Given the description of an element on the screen output the (x, y) to click on. 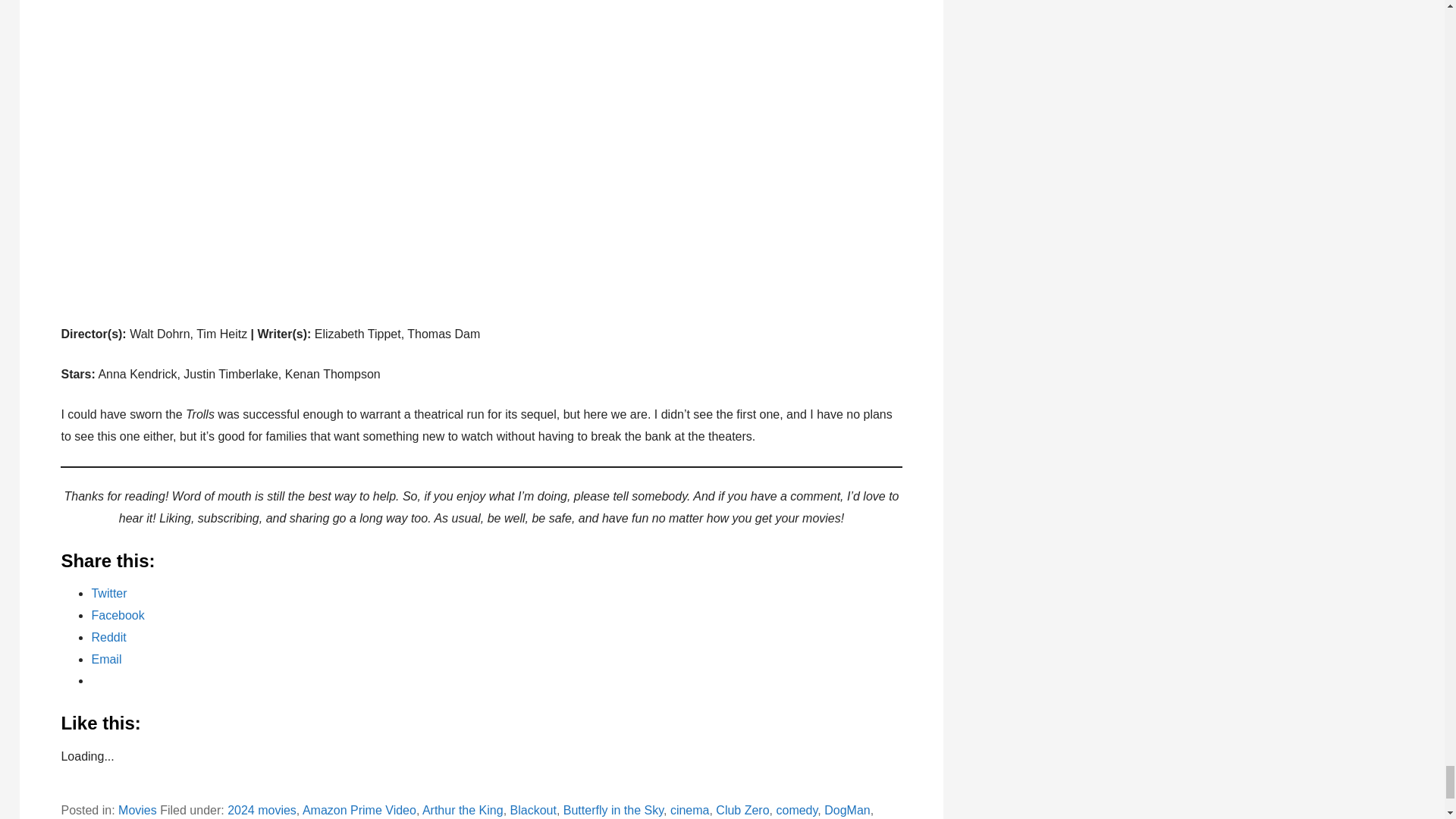
Amazon Prime Video (359, 809)
Arthur the King (462, 809)
DogMan (846, 809)
comedy (796, 809)
Reddit (107, 636)
Email (105, 658)
Butterfly in the Sky (613, 809)
Blackout (533, 809)
Facebook (117, 615)
cinema (689, 809)
Twitter (108, 593)
Movies (137, 809)
2024 movies (262, 809)
Club Zero (742, 809)
